Given the description of an element on the screen output the (x, y) to click on. 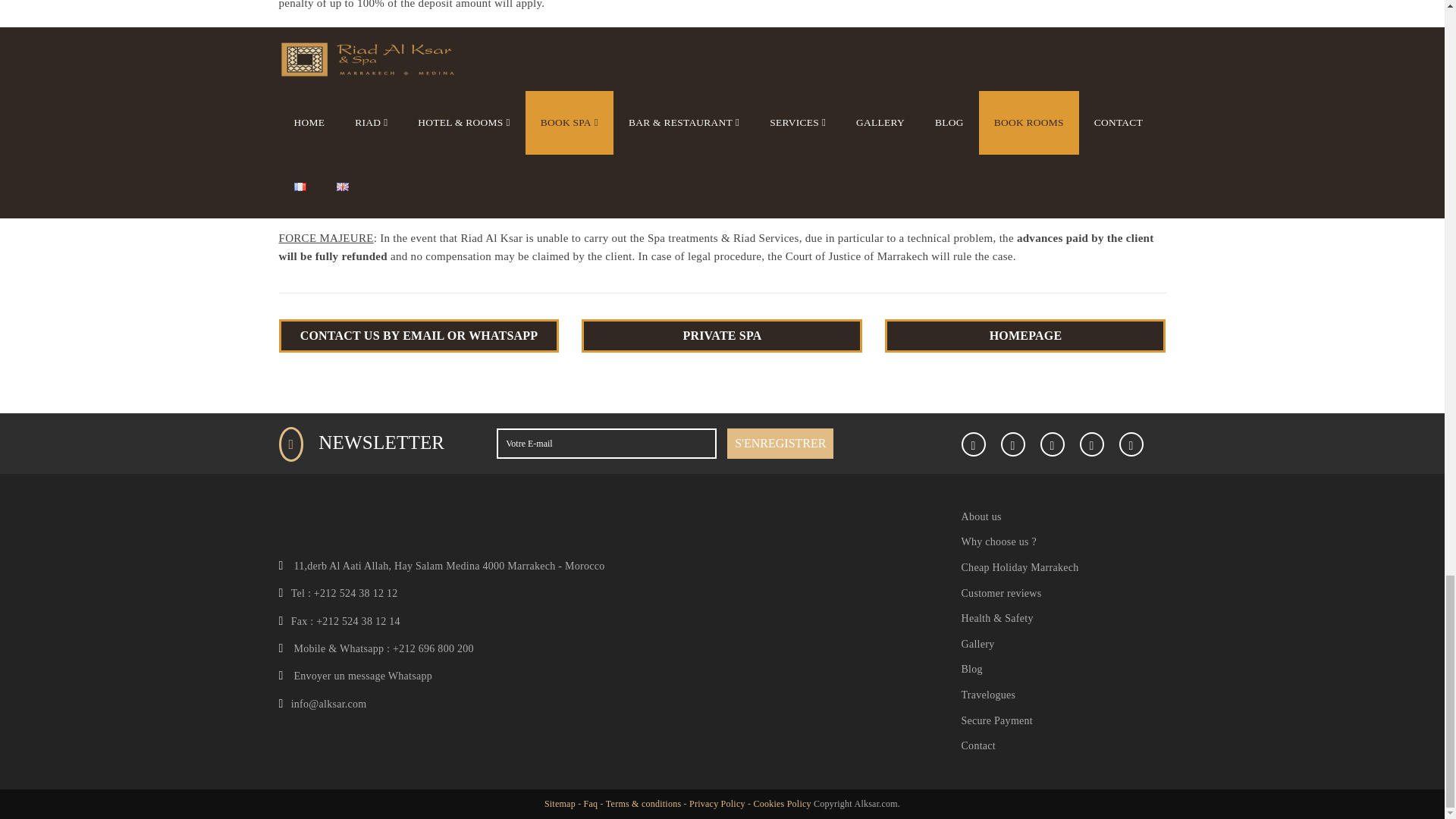
Private Spa (720, 335)
Homepage (1025, 335)
Contact Us (419, 335)
S'enregistrer (779, 443)
